Given the description of an element on the screen output the (x, y) to click on. 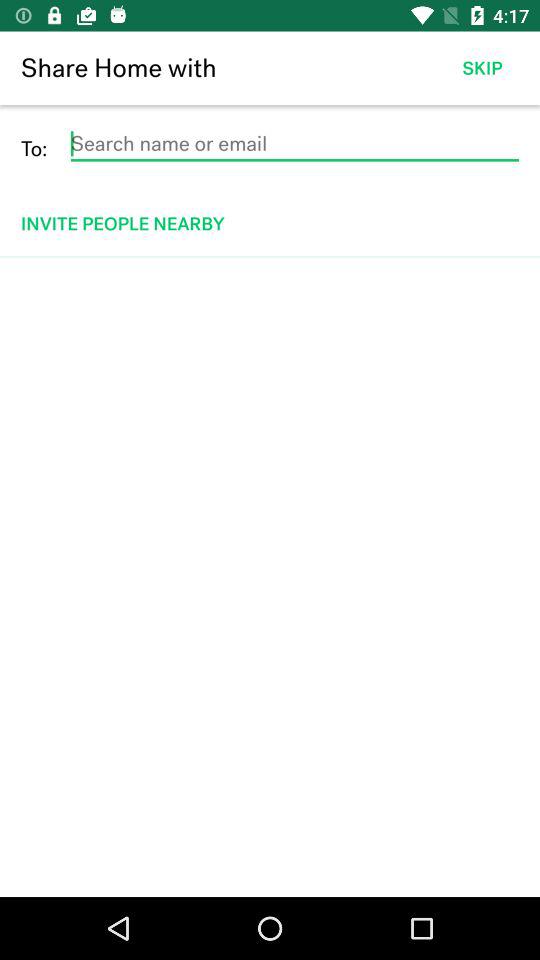
open invite people nearby item (272, 223)
